Given the description of an element on the screen output the (x, y) to click on. 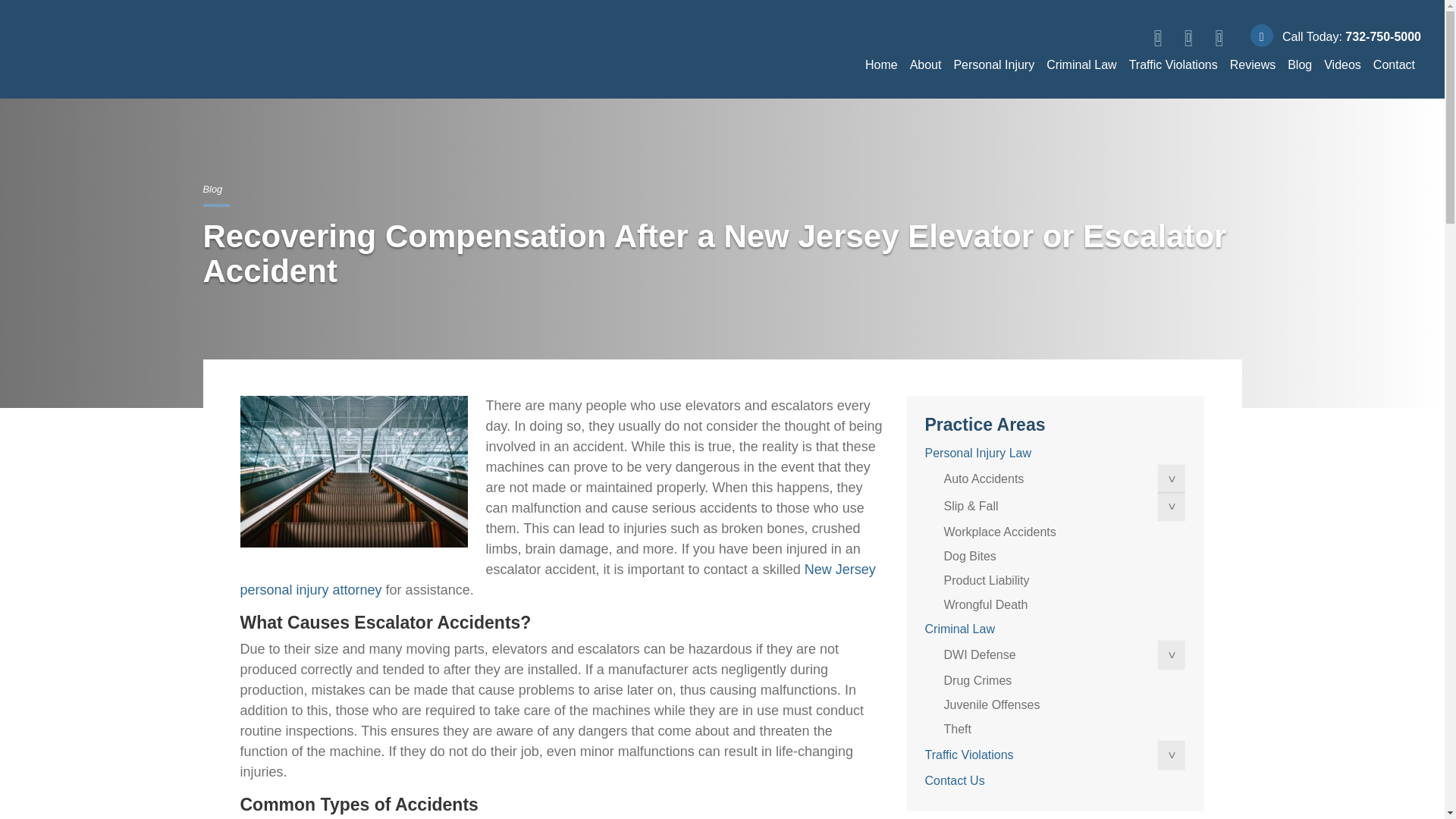
Criminal Law (1081, 64)
Home (881, 64)
Personal Injury (994, 64)
732-750-5000 (1383, 36)
About (925, 64)
